Given the description of an element on the screen output the (x, y) to click on. 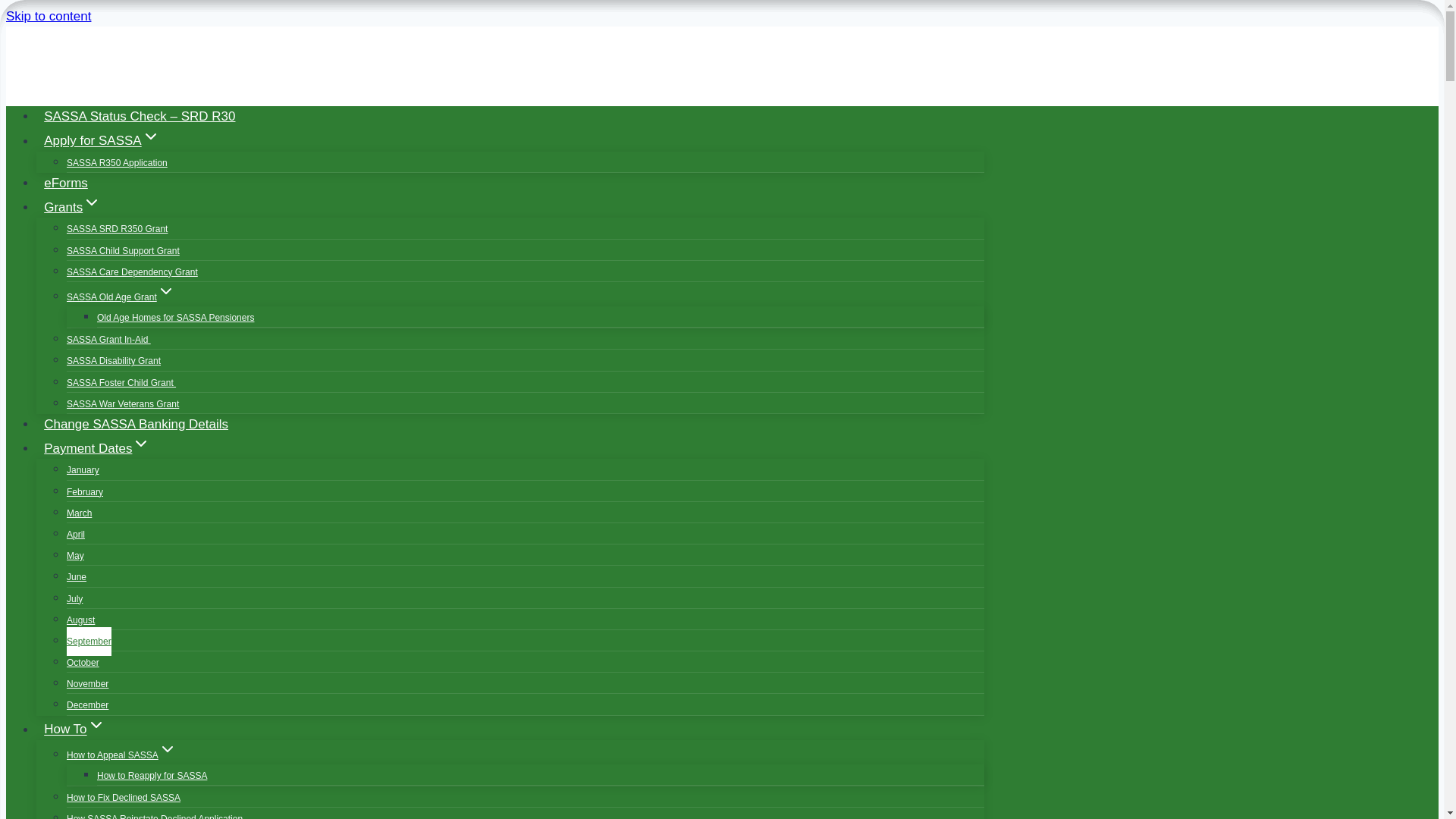
October (82, 662)
February (84, 491)
Expand (91, 202)
November (86, 683)
January (82, 469)
September (89, 641)
SASSA SRD R350 Grant (116, 228)
Expand (167, 749)
SASSA War Veterans Grant (122, 403)
SASSA Foster Child Grant  (121, 382)
How to Reapply for SASSA (151, 775)
Expand (140, 443)
Expand (95, 724)
SASSA Old Age GrantExpand (120, 297)
Change SASSA Banking Details (135, 423)
